Given the description of an element on the screen output the (x, y) to click on. 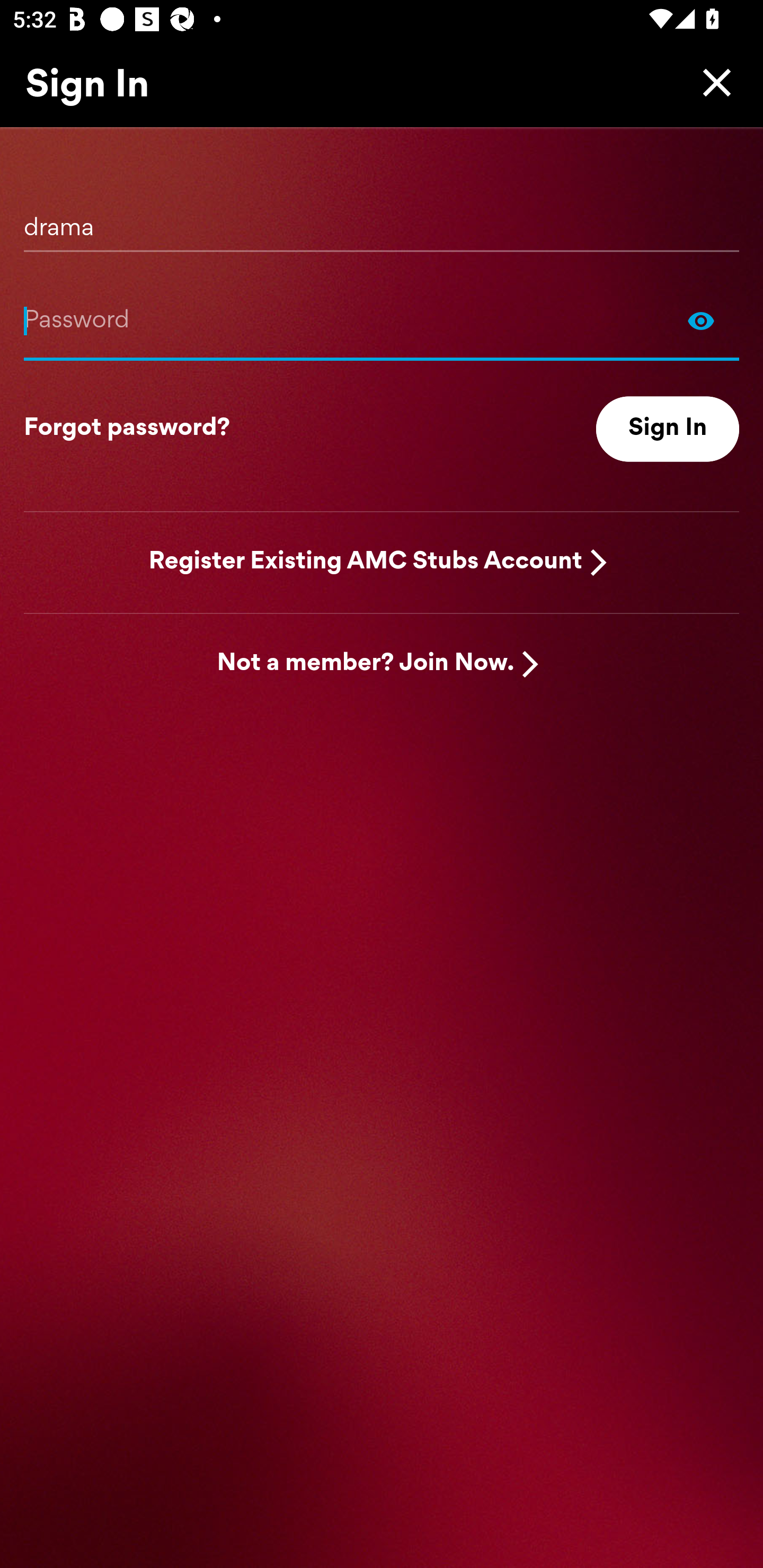
Close (712, 82)
drama (381, 220)
Show Password (381, 320)
Show Password (701, 320)
Forgot password? (126, 428)
Sign In (667, 428)
Register Existing AMC Stubs Account (365, 561)
Not a member? Join Now. (365, 663)
